Given the description of an element on the screen output the (x, y) to click on. 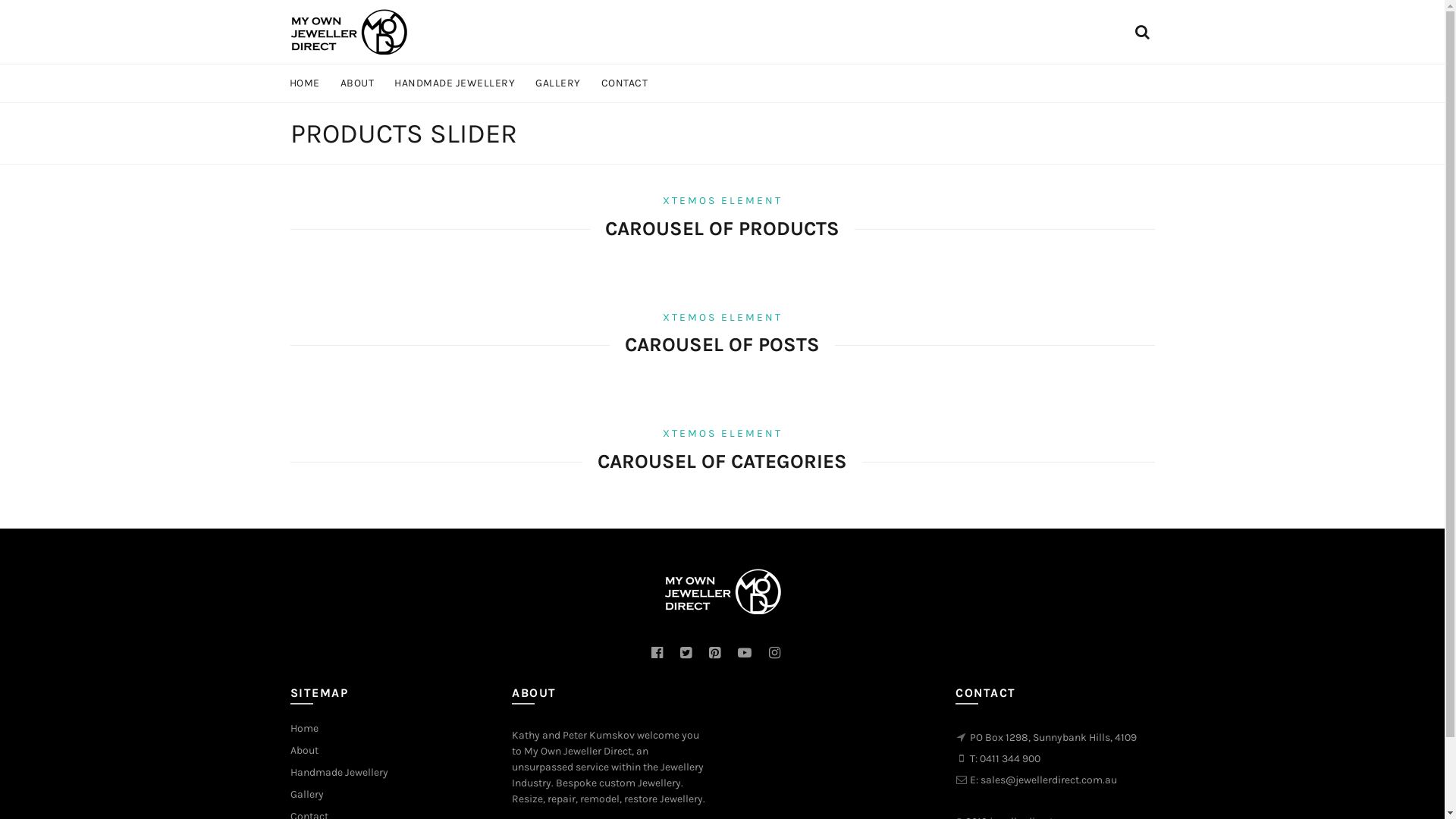
HOME Element type: text (304, 83)
About Element type: text (303, 749)
HANDMADE JEWELLERY Element type: text (454, 83)
Search Element type: text (30, 45)
Gallery Element type: text (306, 793)
GALLERY Element type: text (557, 83)
0411 344 900 Element type: text (1009, 758)
CONTACT Element type: text (624, 83)
sales@jewellerdirect.com.au Element type: text (1048, 779)
Handmade Jewellery Element type: text (338, 771)
Home Element type: text (303, 727)
ABOUT Element type: text (357, 83)
